Given the description of an element on the screen output the (x, y) to click on. 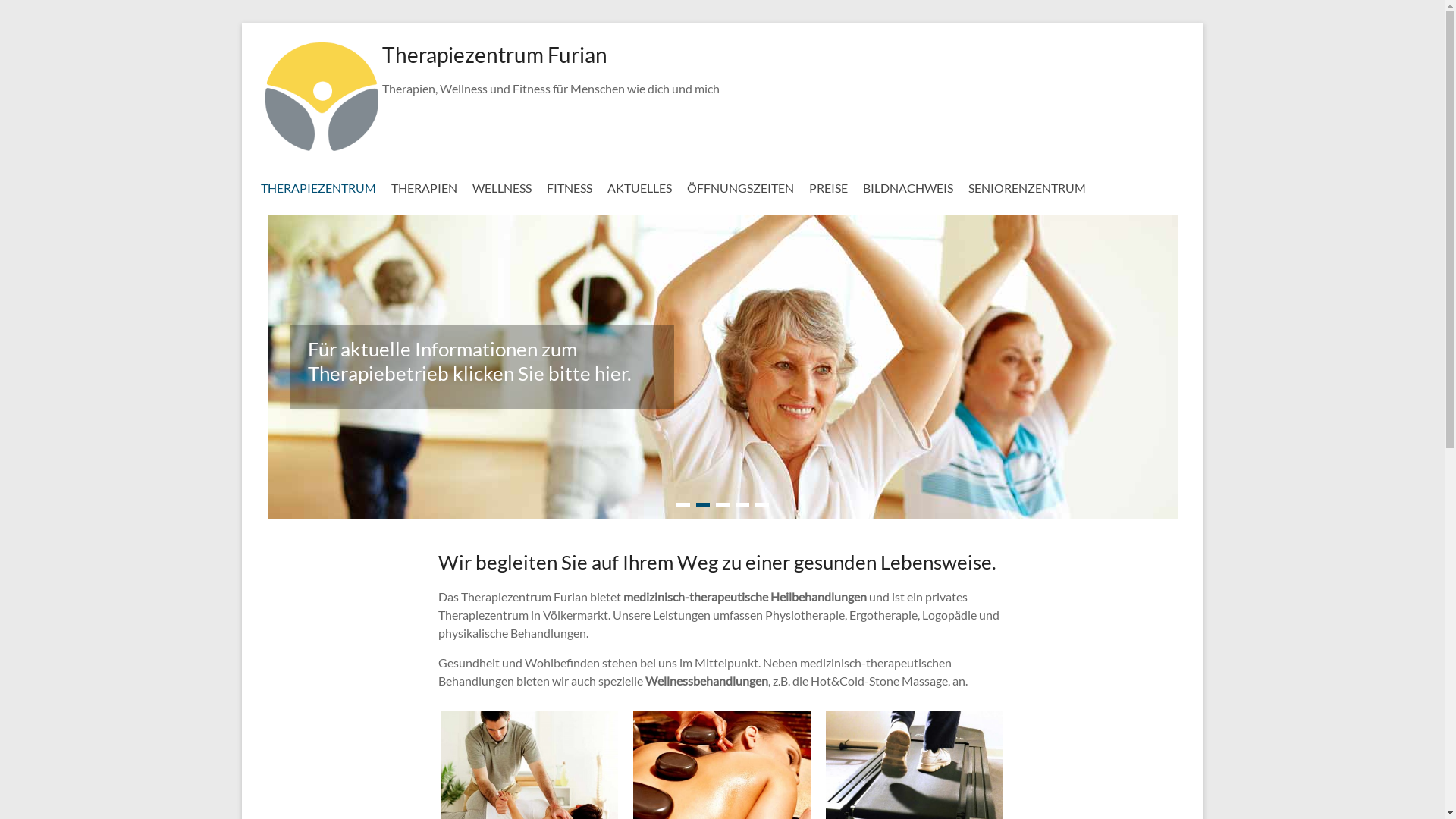
BILDNACHWEIS Element type: text (907, 185)
AKTUELLES Element type: text (638, 185)
3 Element type: text (722, 504)
PREISE Element type: text (827, 185)
THERAPIEN Element type: text (424, 185)
4 Element type: text (742, 504)
SENIORENZENTRUM Element type: text (1026, 185)
1 Element type: text (683, 504)
FITNESS Element type: text (568, 185)
5 Element type: text (761, 504)
THERAPIEZENTRUM Element type: text (318, 185)
2 Element type: text (702, 504)
WELLNESS Element type: text (500, 185)
